Given the description of an element on the screen output the (x, y) to click on. 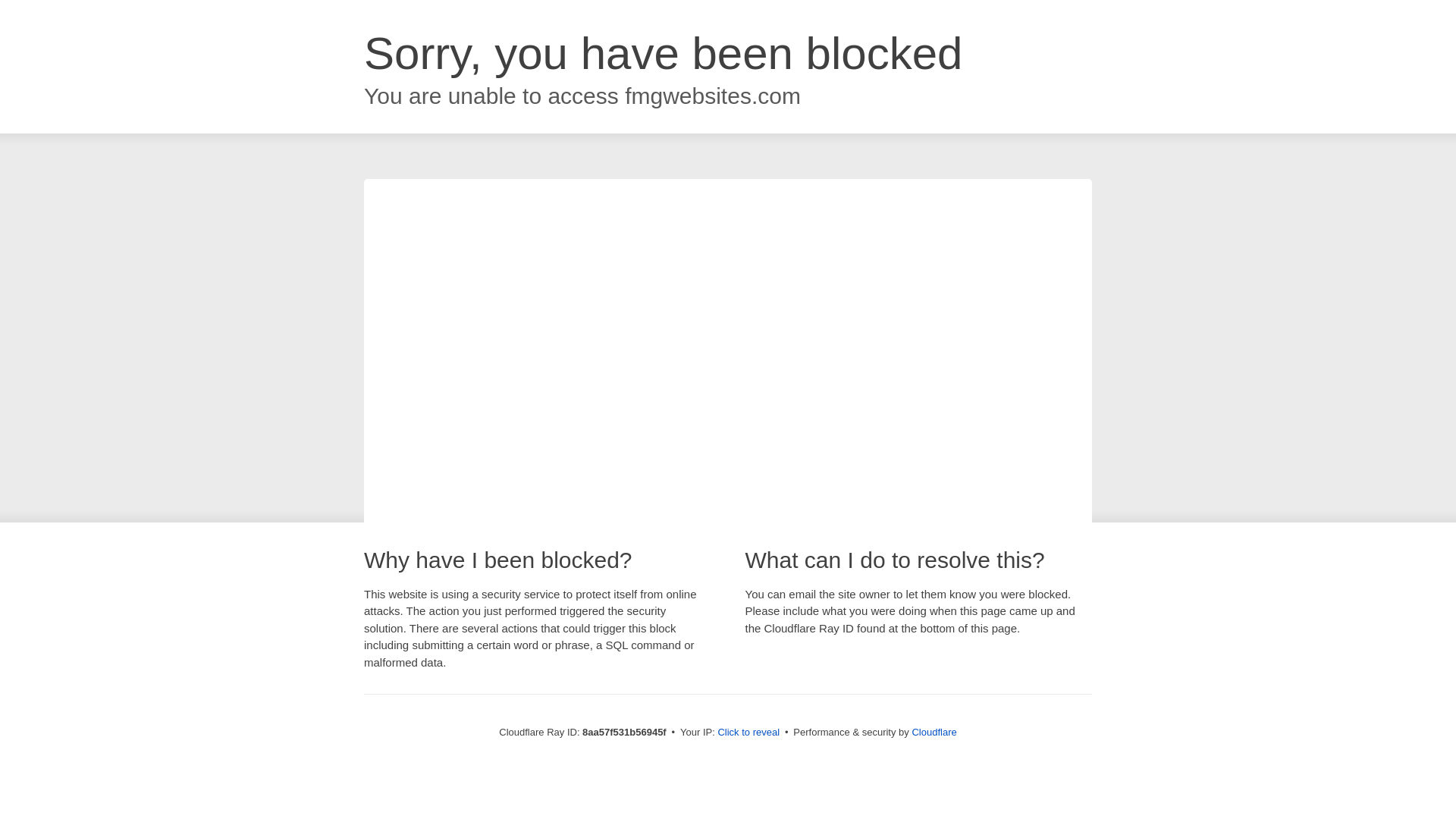
Click to reveal (747, 732)
Cloudflare (933, 731)
